Given the description of an element on the screen output the (x, y) to click on. 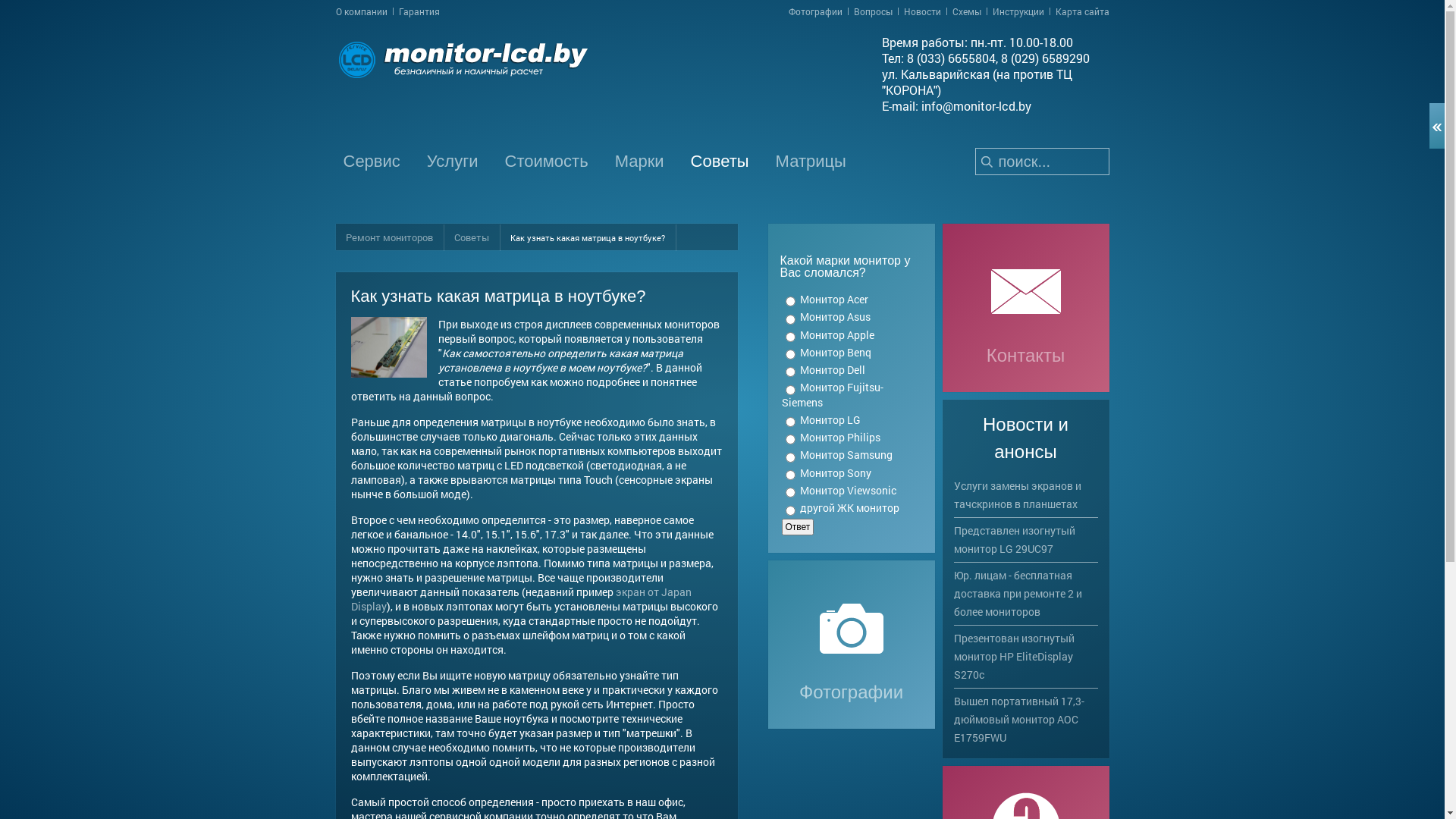
Reset Element type: text (3, 3)
